Given the description of an element on the screen output the (x, y) to click on. 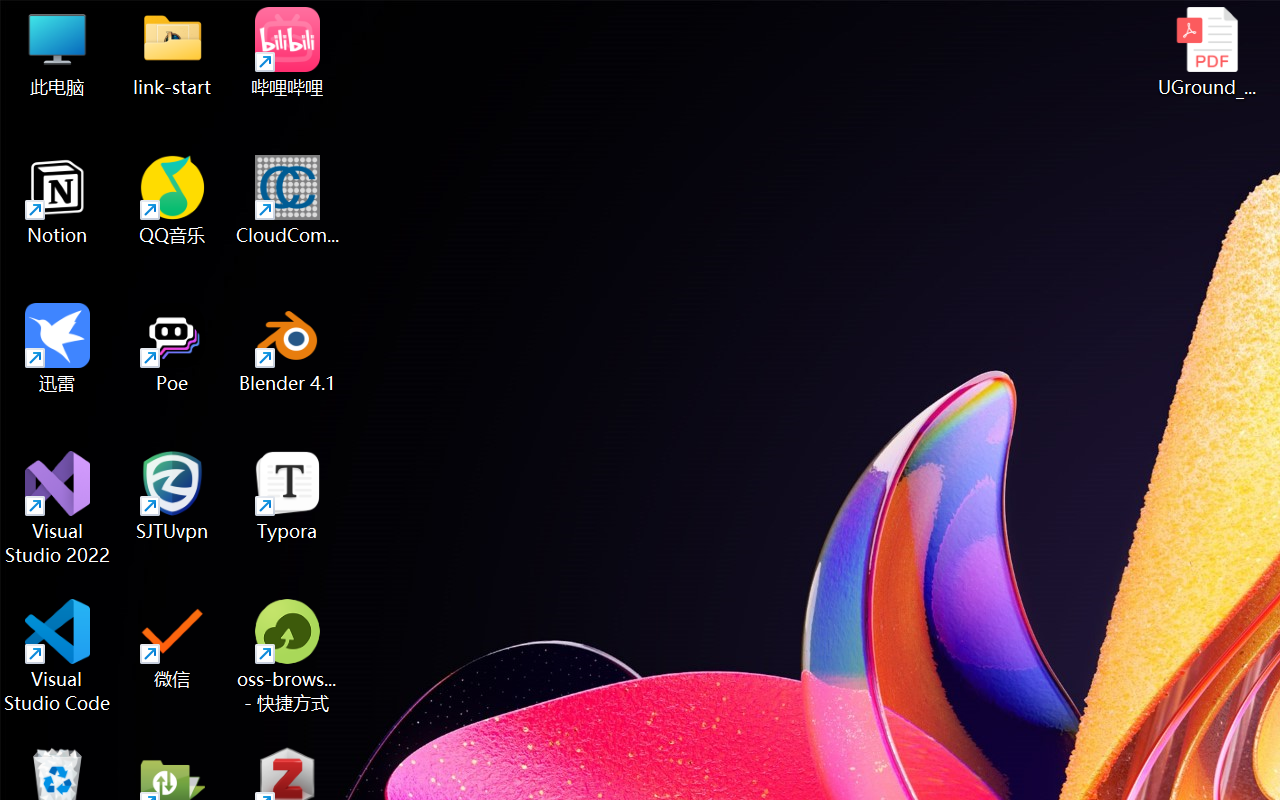
CloudCompare (287, 200)
SJTUvpn (172, 496)
Typora (287, 496)
Visual Studio Code (57, 656)
UGround_paper.pdf (1206, 52)
Blender 4.1 (287, 348)
Visual Studio 2022 (57, 508)
